Given the description of an element on the screen output the (x, y) to click on. 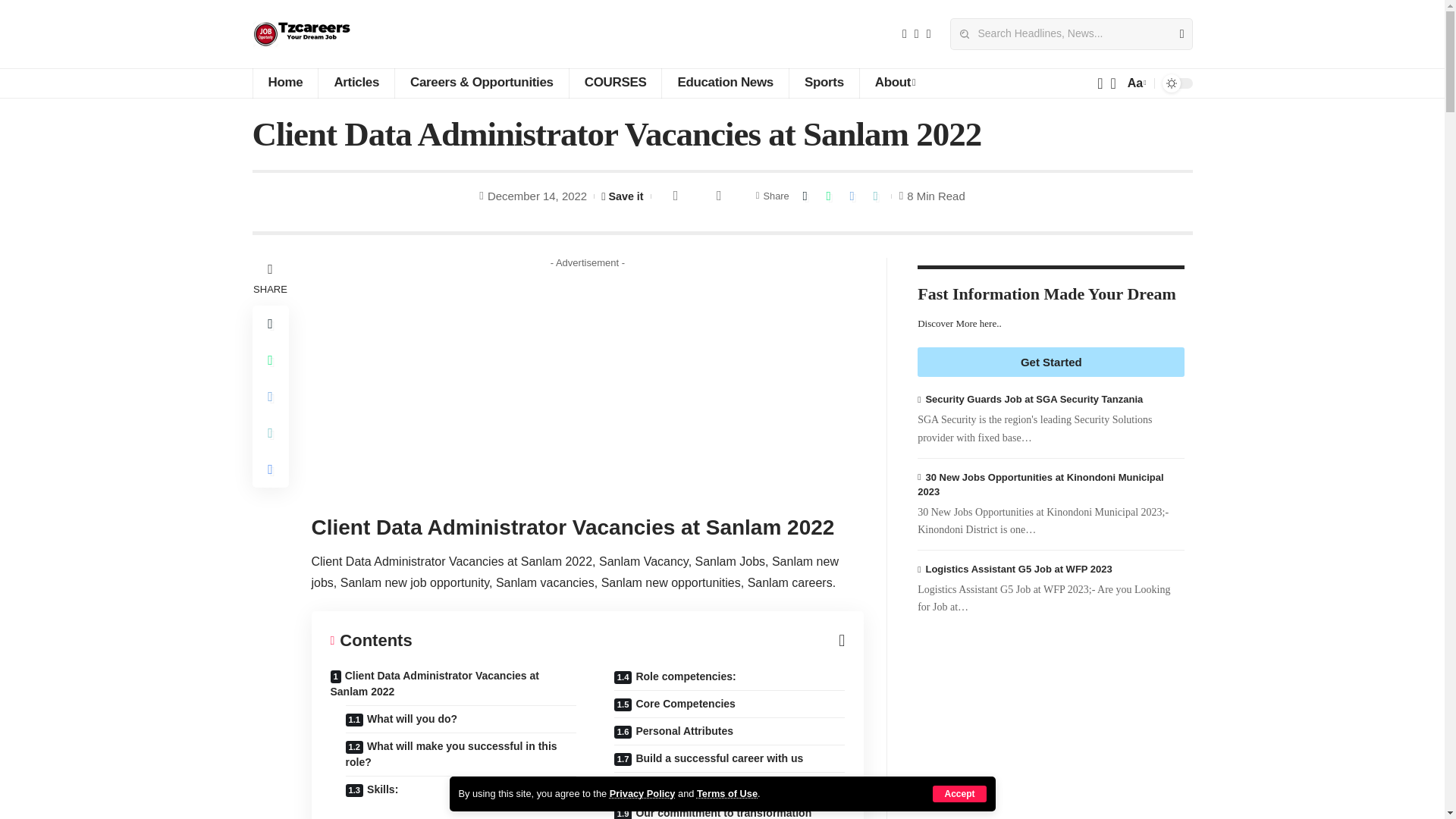
Privacy Policy (642, 793)
Sports (824, 82)
Search (1175, 33)
Tz Careers (300, 33)
Home (284, 82)
Advertisement (599, 381)
COURSES (615, 82)
Terms of Use (727, 793)
Accept (959, 793)
Education News (725, 82)
Aa (1135, 82)
About (895, 82)
Articles (355, 82)
